Given the description of an element on the screen output the (x, y) to click on. 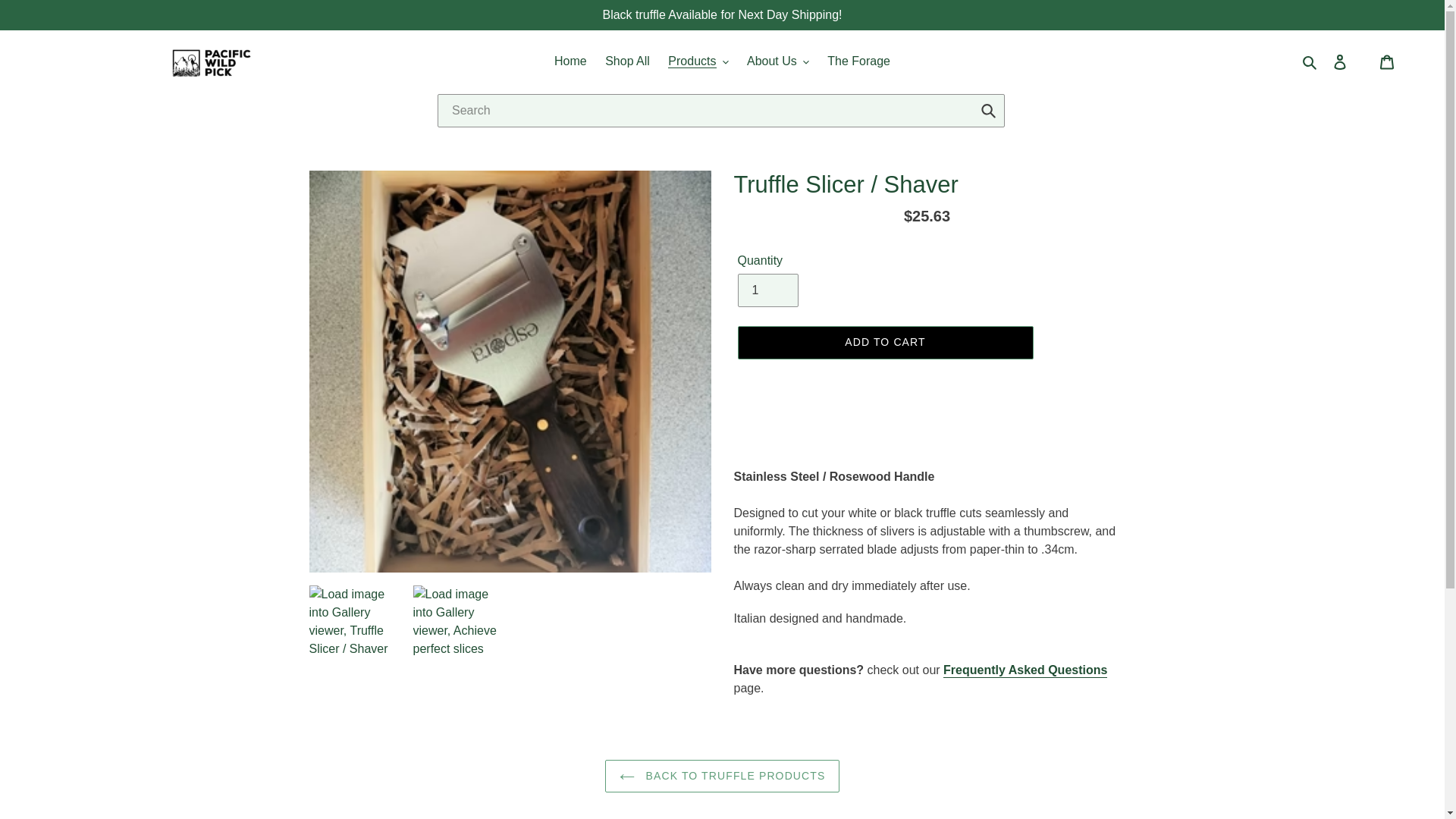
About Us (777, 60)
Black truffle Available for Next Day Shipping! (721, 14)
FAQ page (1024, 670)
1 (766, 290)
Shop All (627, 60)
Products (698, 60)
The Forage (858, 60)
Home (570, 60)
Log in (1339, 61)
Cart (1387, 61)
